Given the description of an element on the screen output the (x, y) to click on. 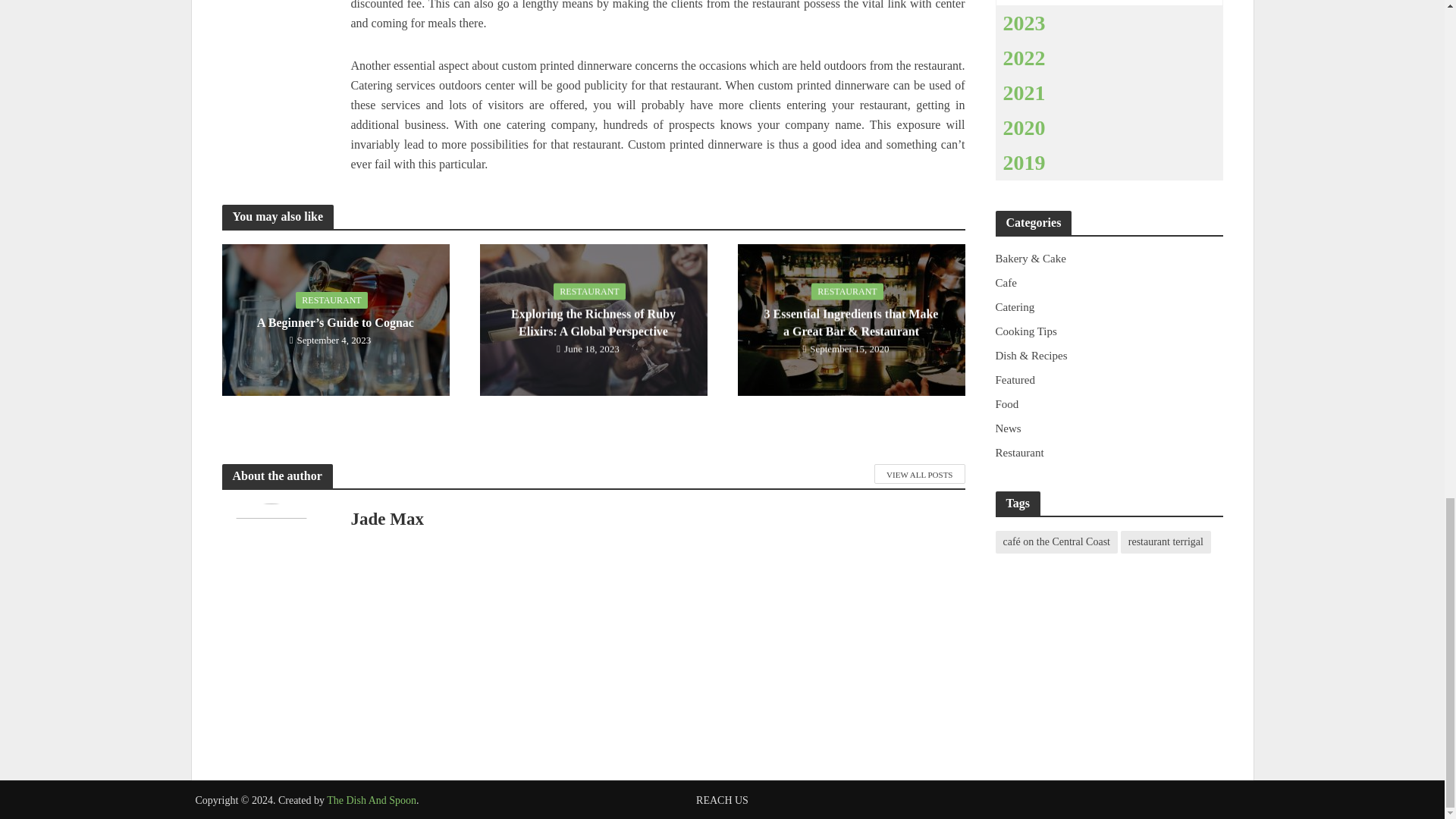
Exploring the Richness of Ruby Elixirs: A Global Perspective (592, 318)
